Given the description of an element on the screen output the (x, y) to click on. 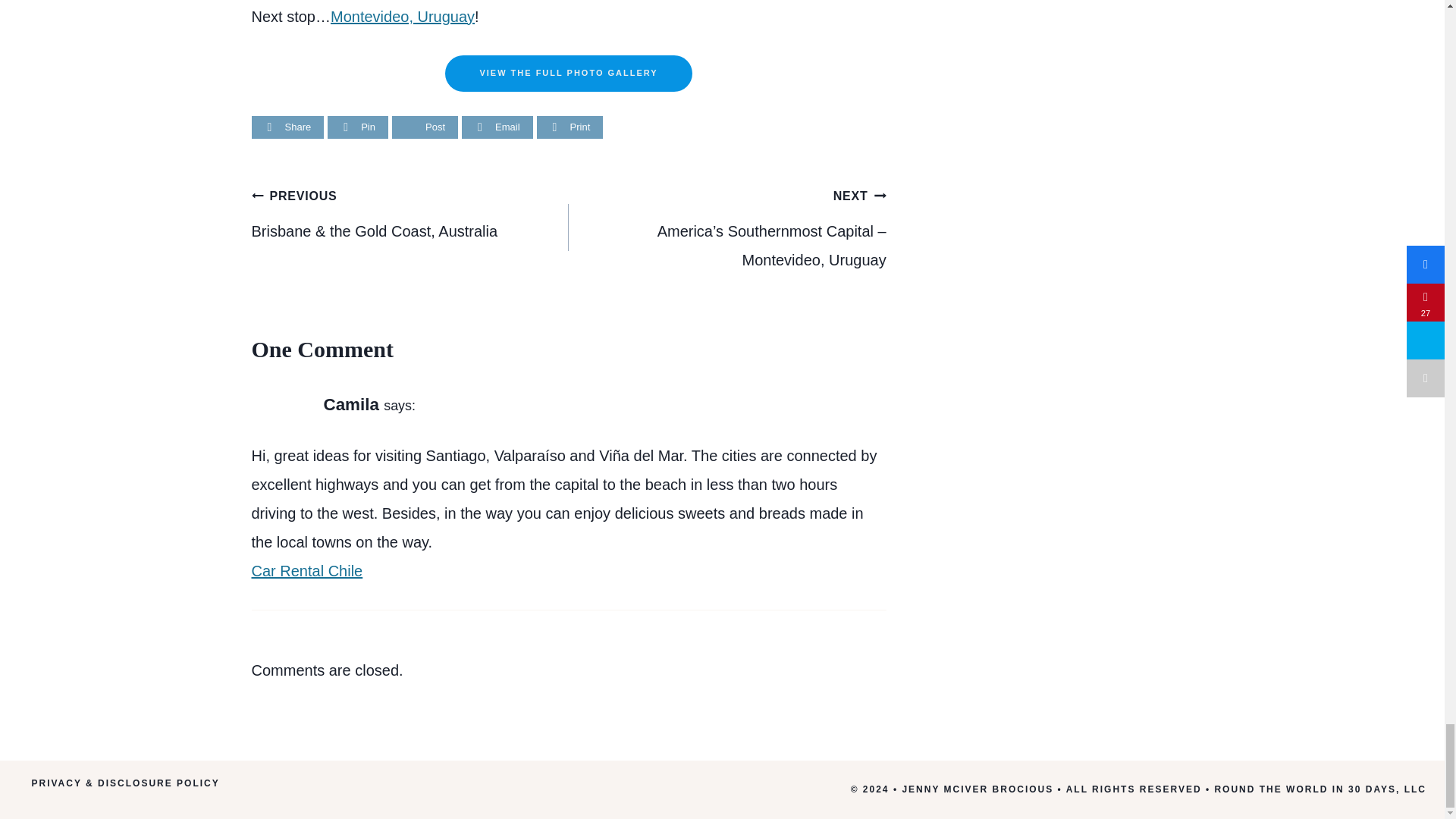
America's Southernmost Capital - Montevideo, Uruguay (402, 16)
